Given the description of an element on the screen output the (x, y) to click on. 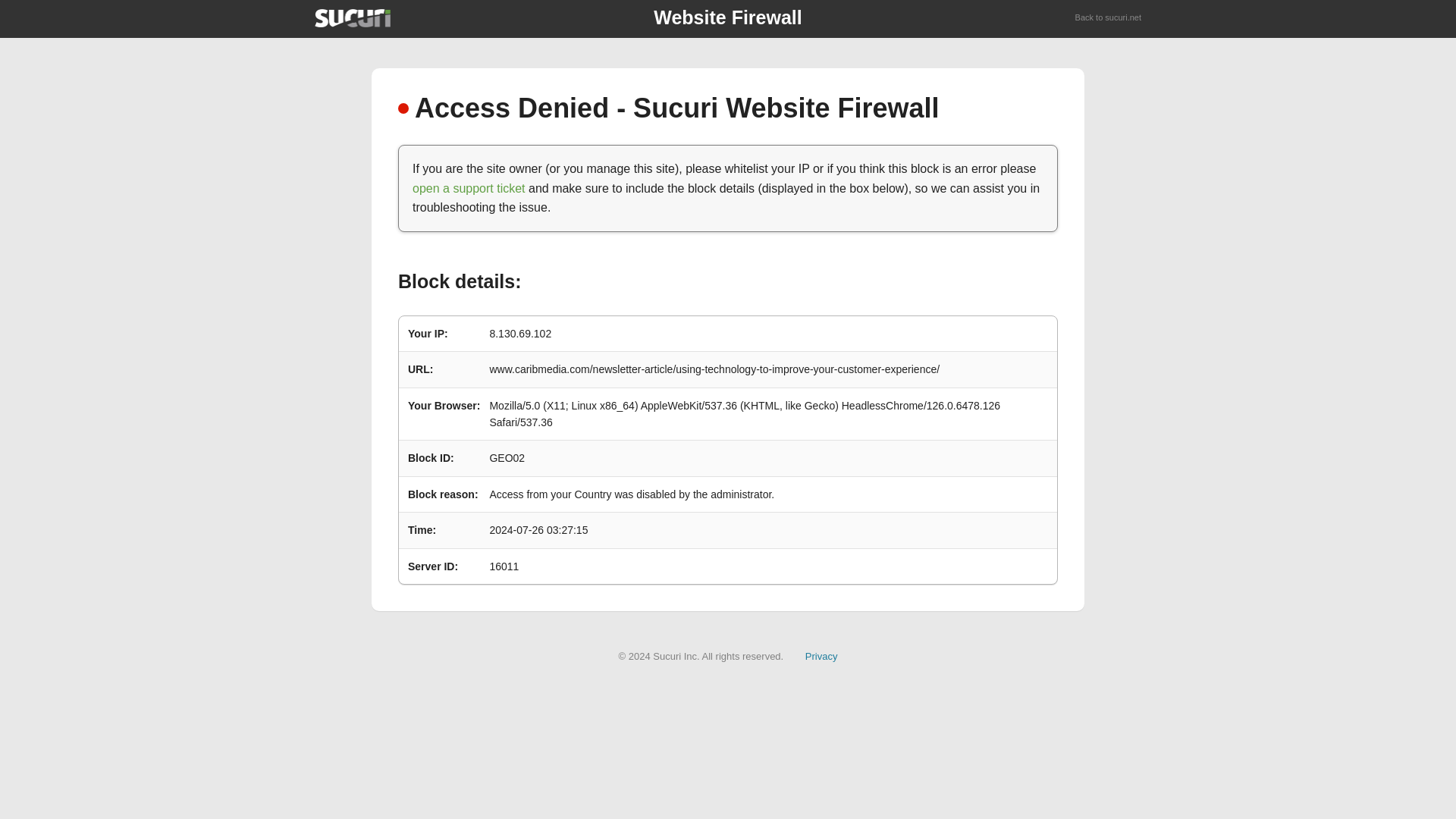
Back to sucuri.net (1108, 18)
open a support ticket (468, 187)
Privacy (821, 655)
